Given the description of an element on the screen output the (x, y) to click on. 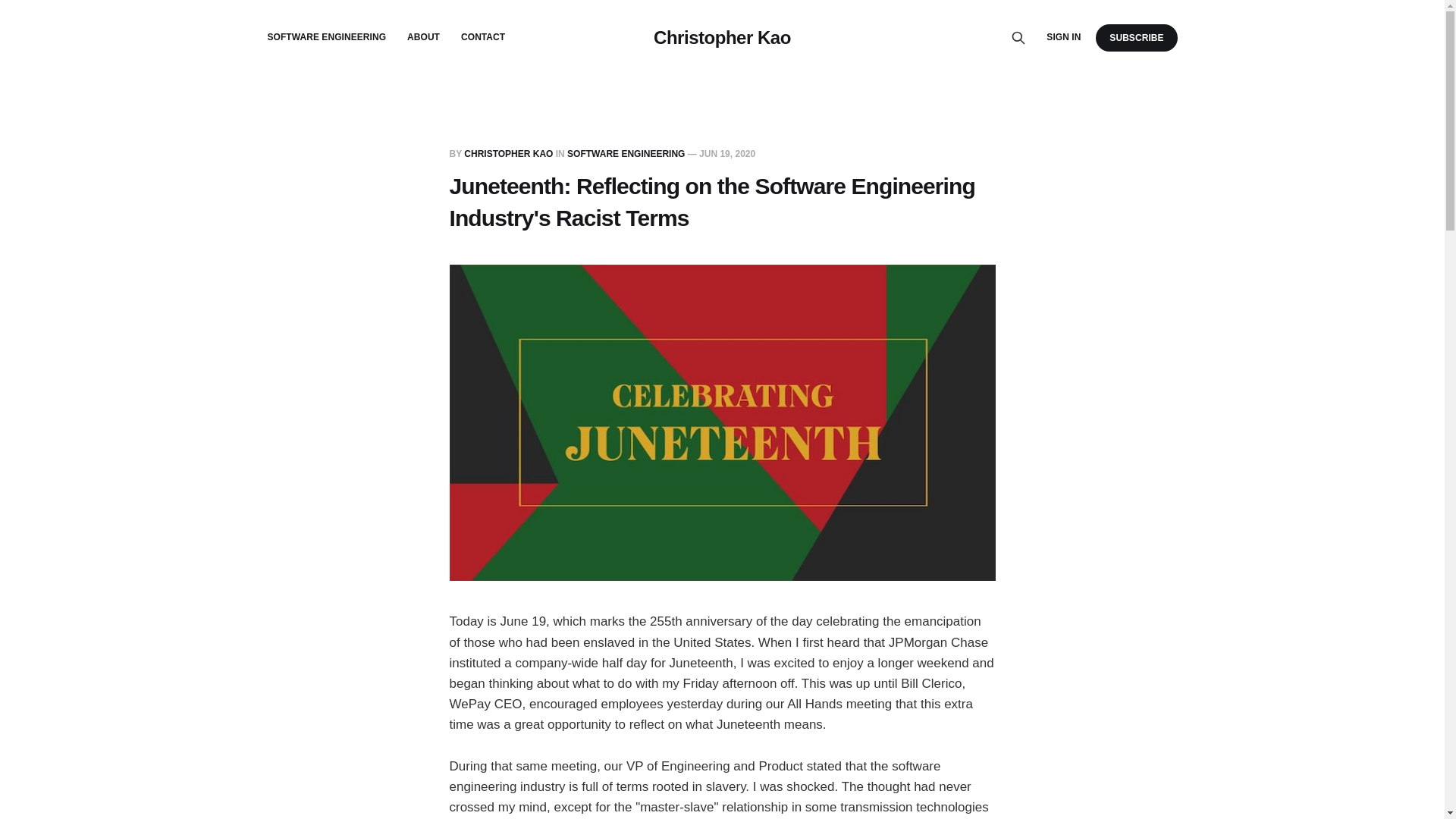
SOFTWARE ENGINEERING (325, 36)
Christopher Kao (721, 37)
SUBSCRIBE (1136, 37)
CHRISTOPHER KAO (508, 153)
SIGN IN (1063, 37)
SOFTWARE ENGINEERING (625, 153)
ABOUT (423, 36)
CONTACT (483, 36)
